Given the description of an element on the screen output the (x, y) to click on. 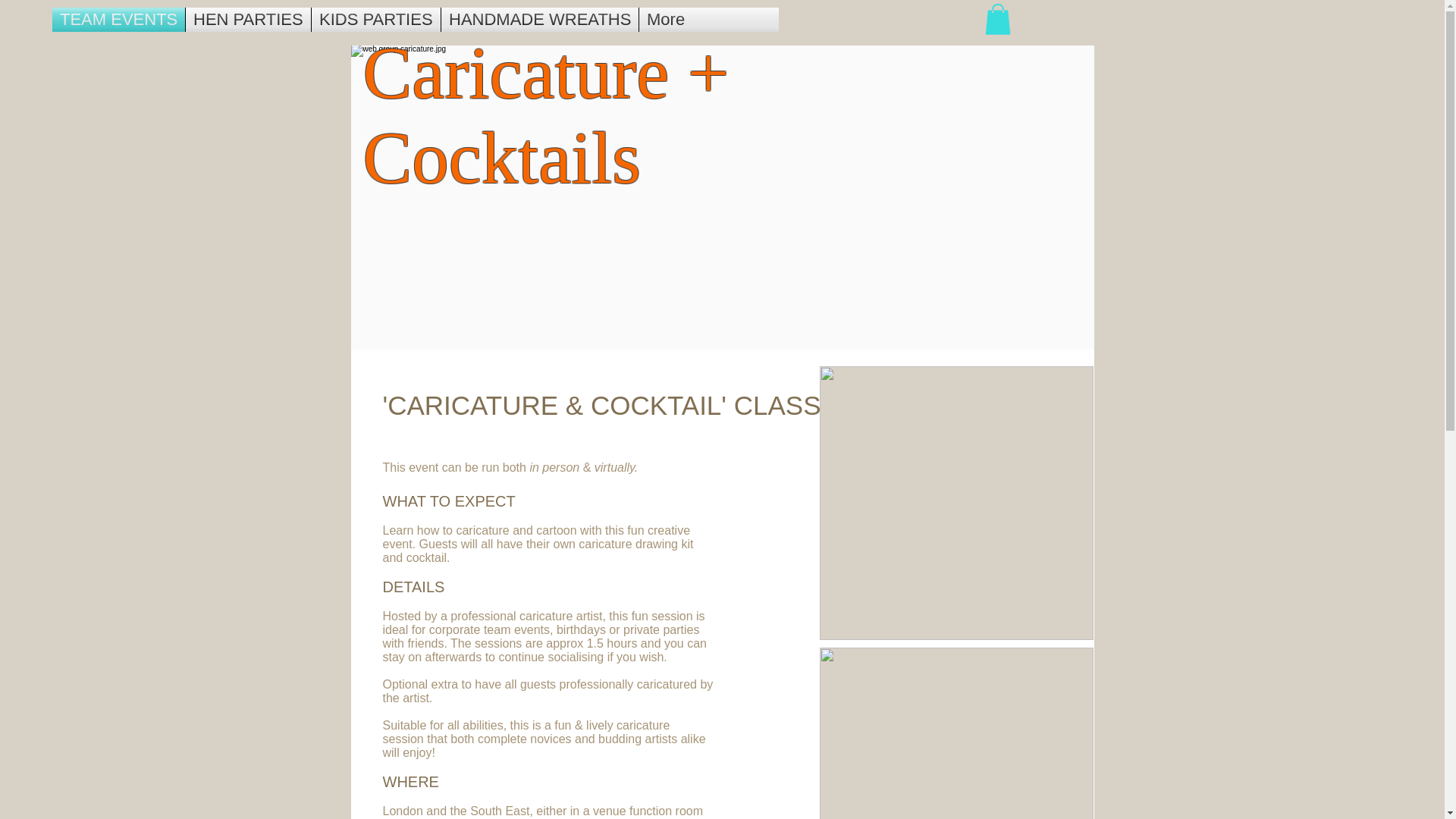
TEAM EVENTS (118, 19)
HANDMADE WREATHS (540, 19)
KIDS PARTIES (376, 19)
HEN PARTIES (248, 19)
